Given the description of an element on the screen output the (x, y) to click on. 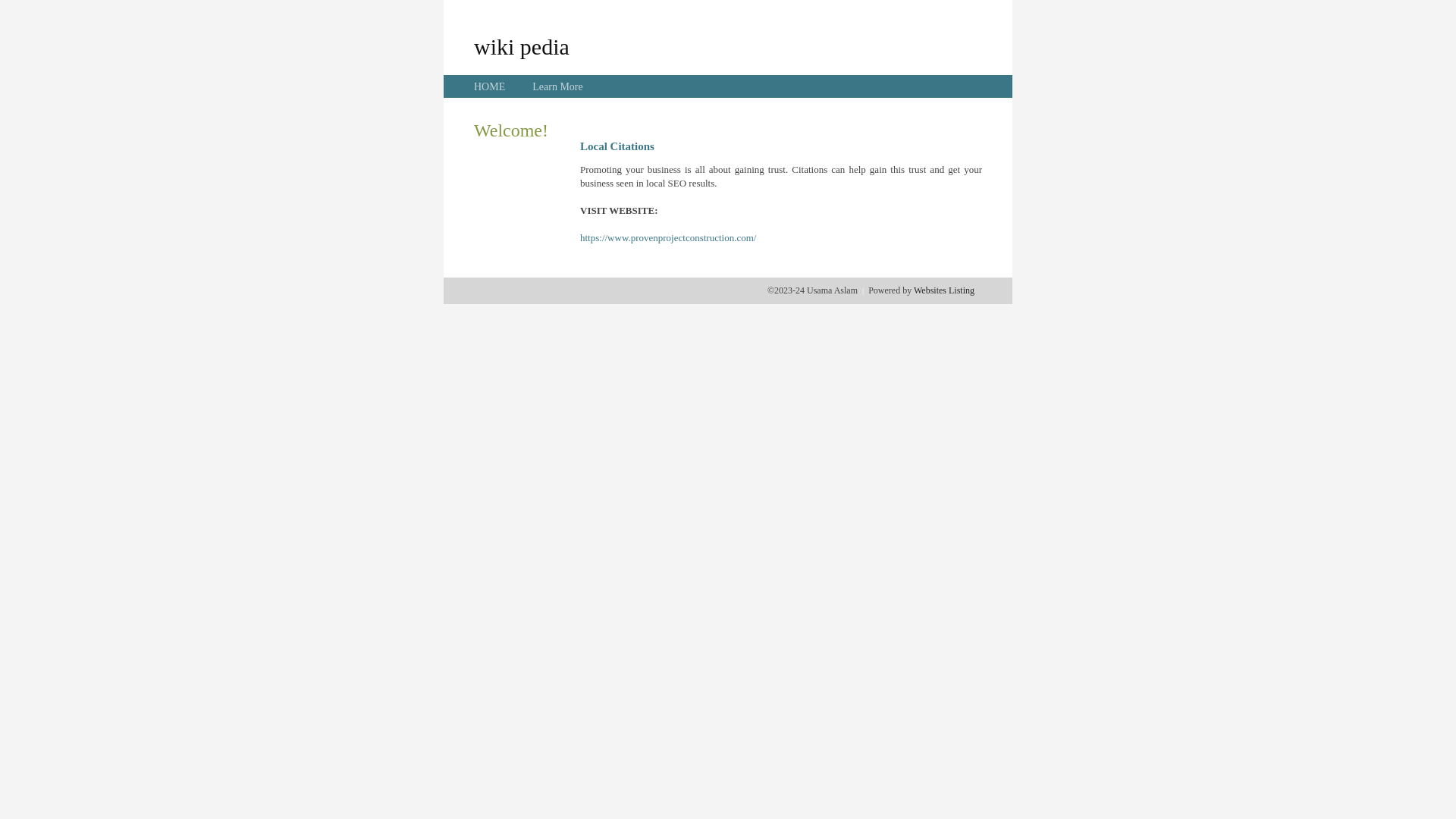
wiki pedia Element type: text (521, 46)
https://www.provenprojectconstruction.com/ Element type: text (668, 237)
Websites Listing Element type: text (943, 290)
Learn More Element type: text (557, 86)
HOME Element type: text (489, 86)
